Given the description of an element on the screen output the (x, y) to click on. 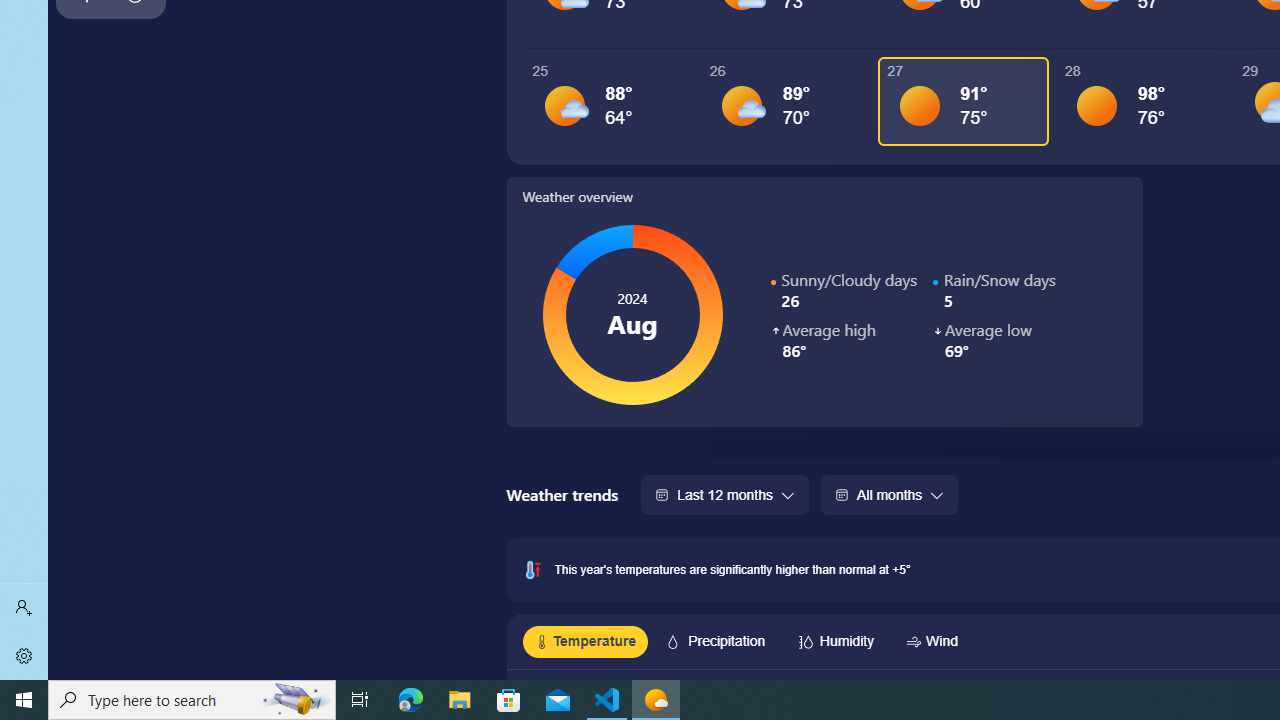
File Explorer (460, 699)
Sign in (24, 607)
Microsoft Edge (411, 699)
Weather - 1 running window (656, 699)
Visual Studio Code - 1 running window (607, 699)
Type here to search (191, 699)
Settings (24, 655)
Task View (359, 699)
Start (24, 699)
Search highlights icon opens search home window (295, 699)
Microsoft Store (509, 699)
